Given the description of an element on the screen output the (x, y) to click on. 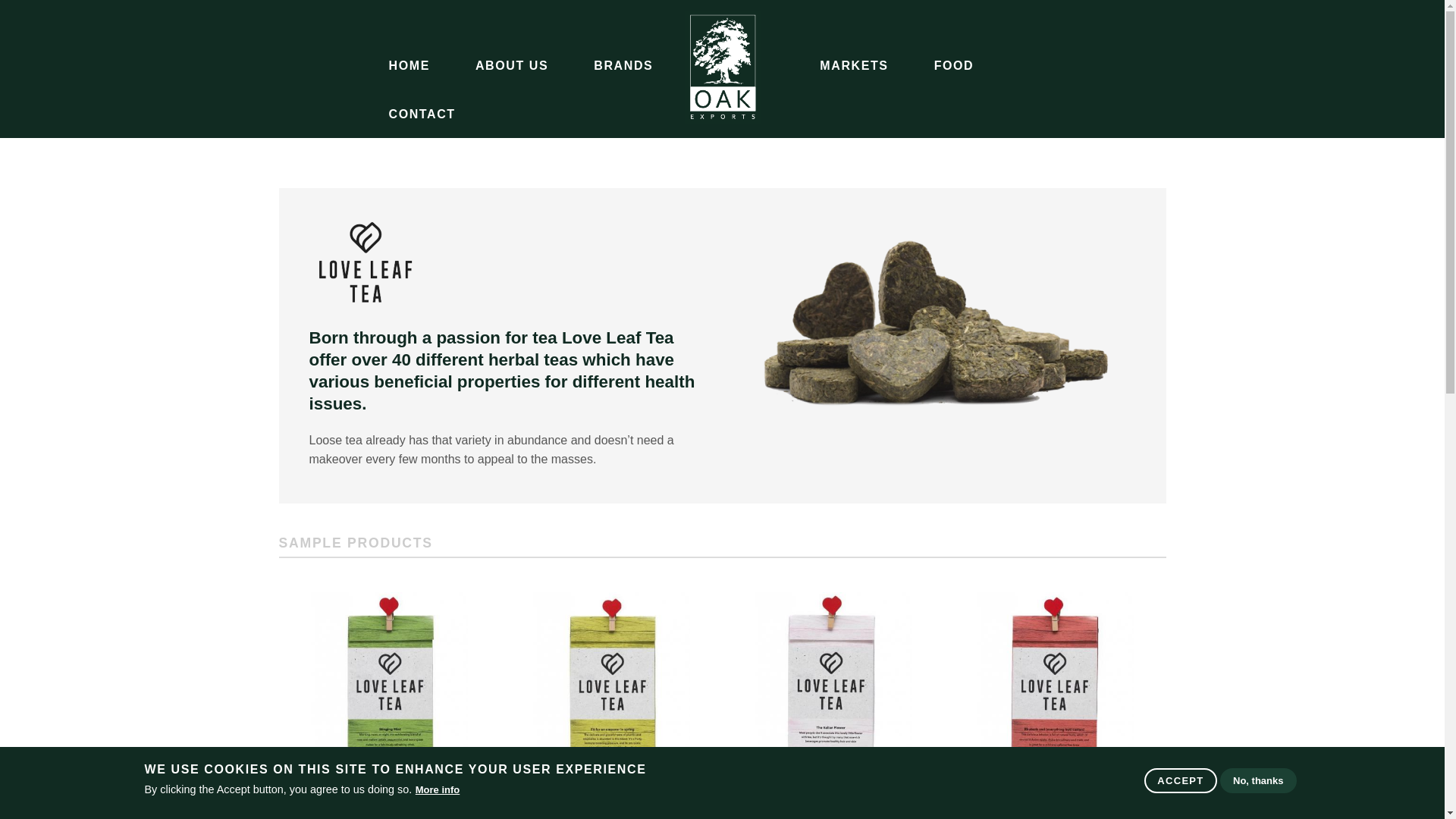
HOME (408, 65)
Love Leaf Tea (934, 323)
CONTACT (421, 114)
ABOUT US (511, 65)
FOOD (954, 65)
Love Leaf Tea (365, 264)
HOME (735, 65)
Home (722, 119)
MARKETS (853, 65)
BRANDS (622, 65)
